Given the description of an element on the screen output the (x, y) to click on. 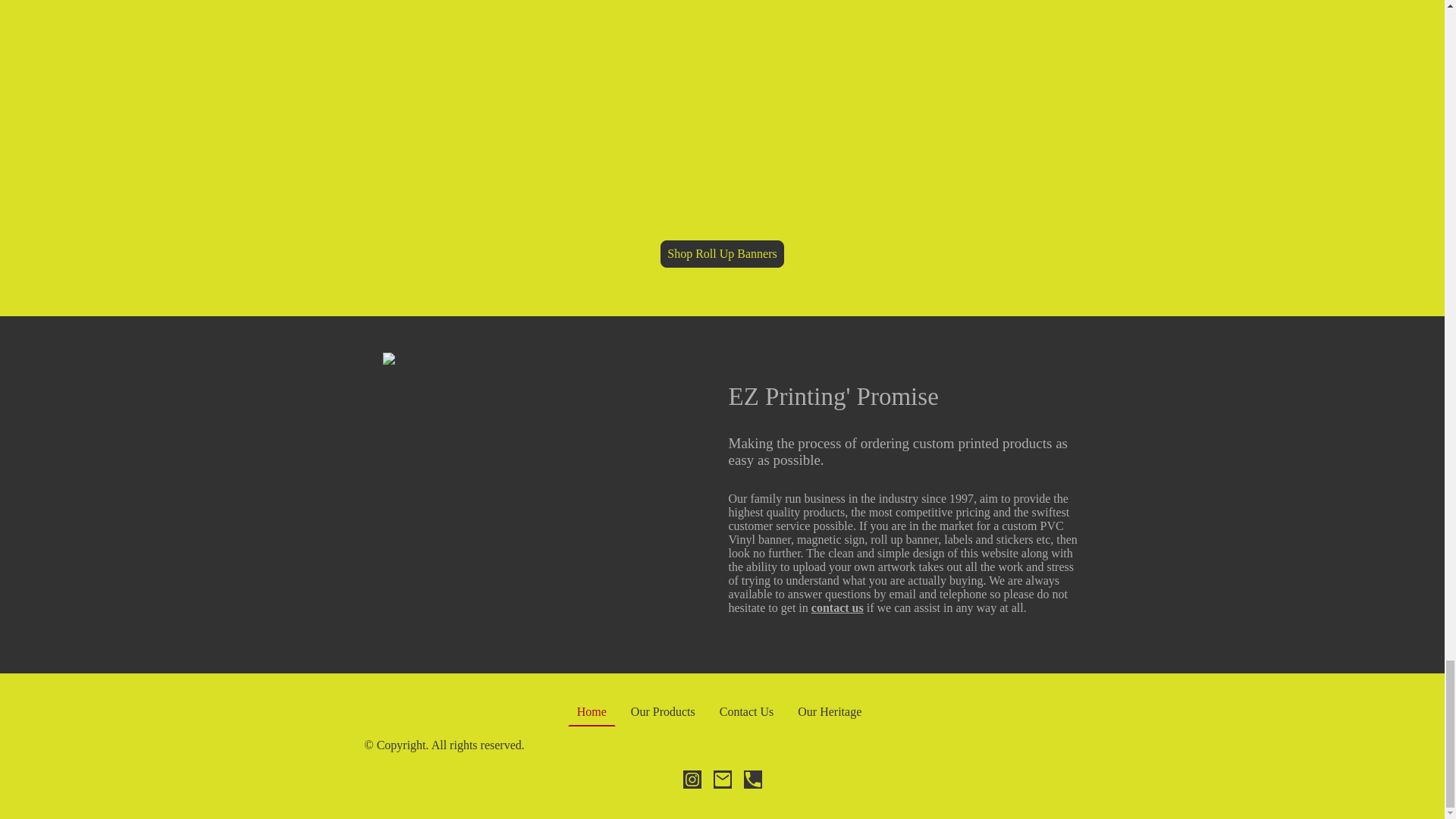
Our Heritage (829, 711)
Contact Us (746, 711)
contact us (836, 607)
Shop Roll Up Banners (722, 253)
Our Products (663, 711)
Home (591, 711)
